Given the description of an element on the screen output the (x, y) to click on. 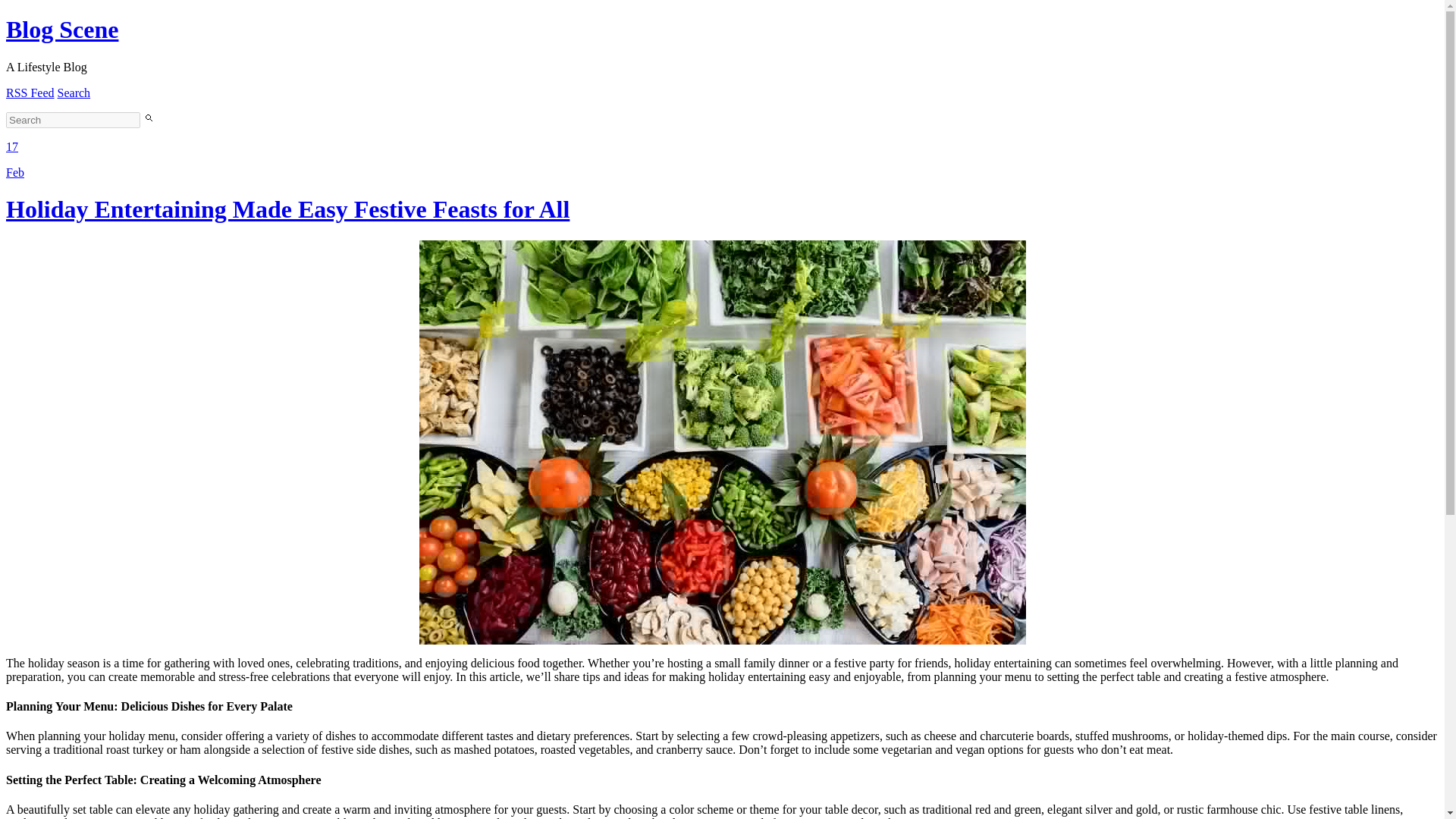
RSS (30, 92)
Blog Scene (61, 29)
Holiday Entertaining Made Easy Festive Feasts for All (287, 208)
Search (74, 92)
Search (74, 92)
RSS Feed (30, 92)
Blog Scene (61, 29)
